Given the description of an element on the screen output the (x, y) to click on. 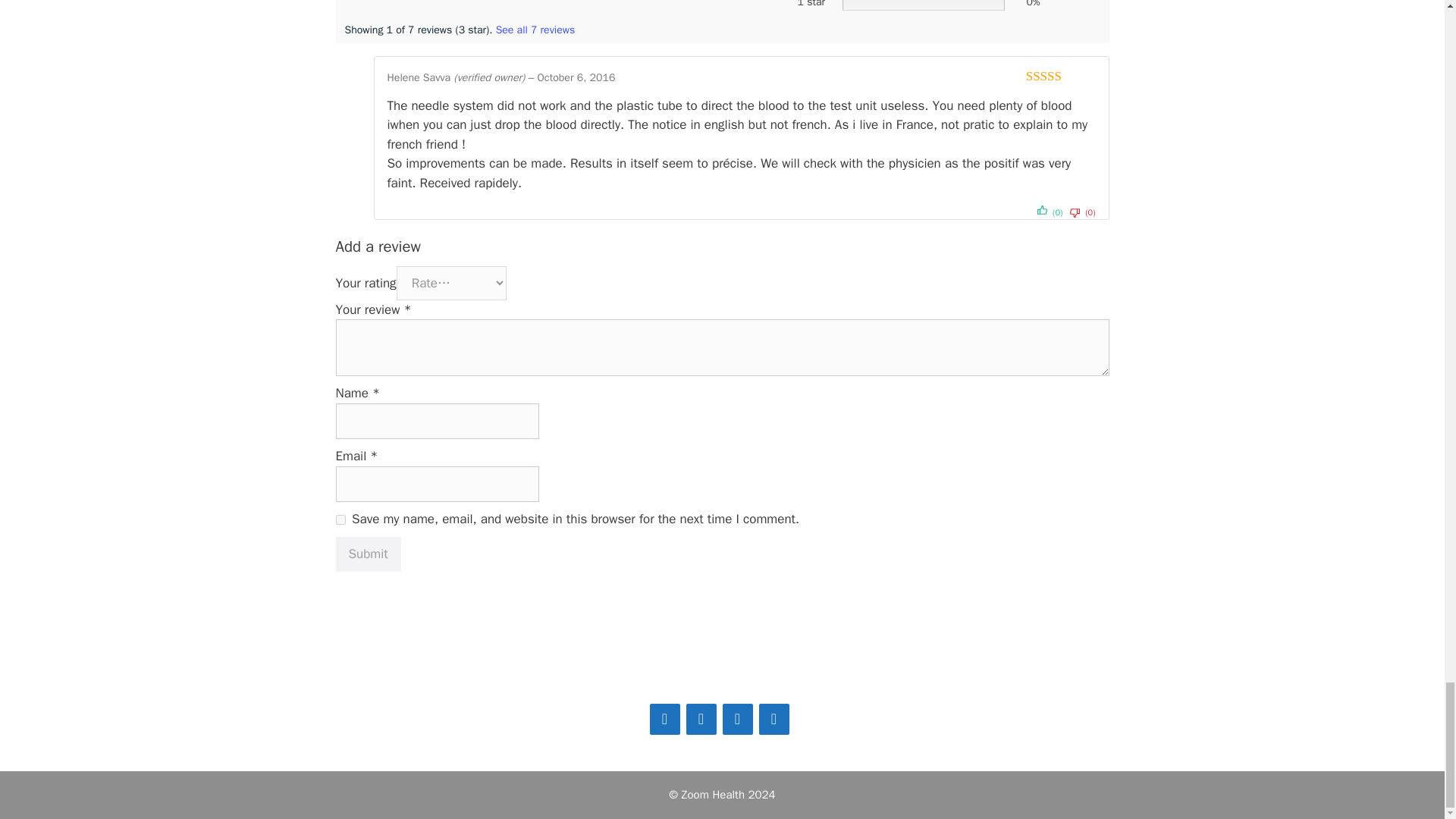
Submit (367, 554)
Rated 3 out of 5 (1061, 74)
yes (339, 519)
